Given the description of an element on the screen output the (x, y) to click on. 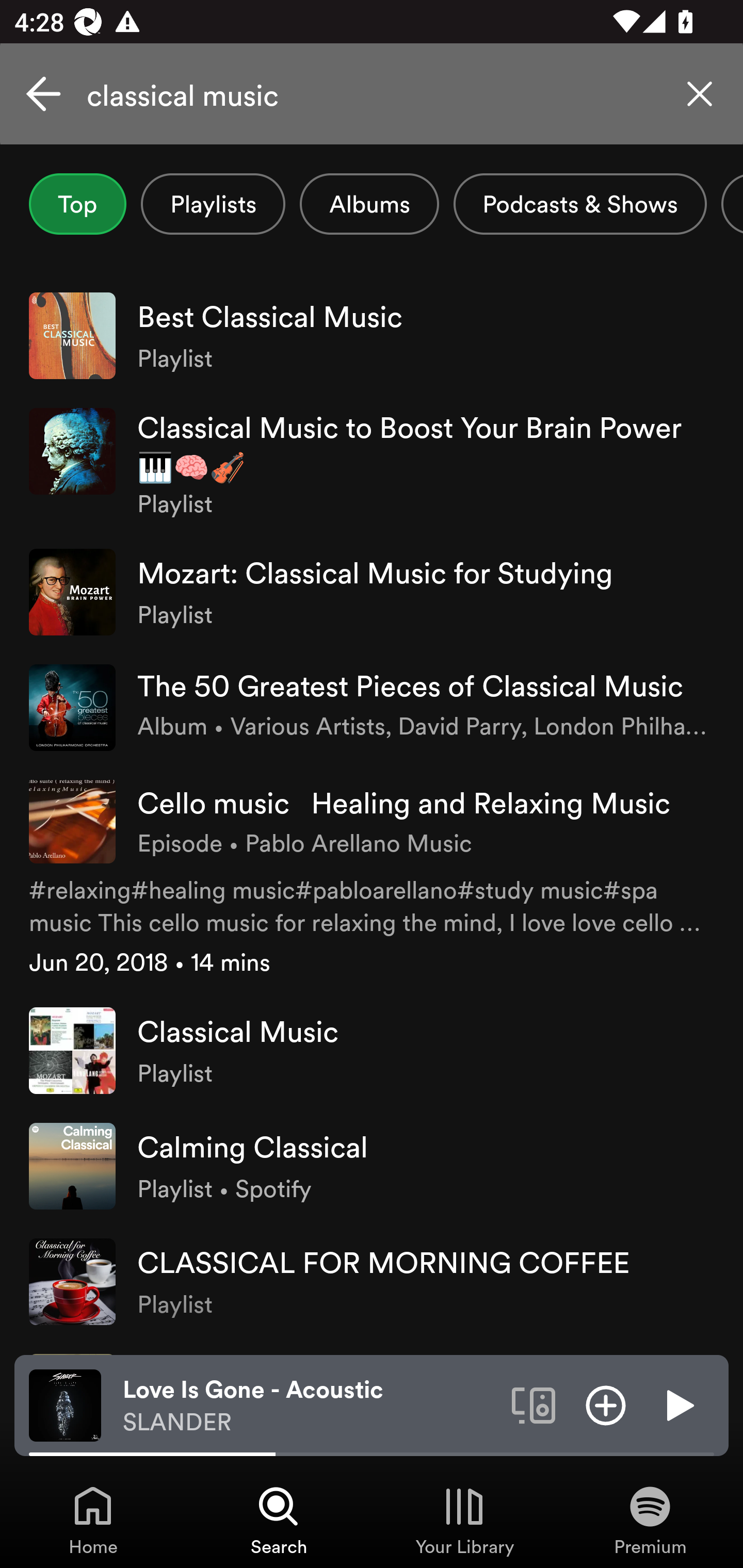
classical music (371, 93)
Cancel (43, 93)
Clear search query (699, 93)
Top (77, 203)
Playlists (213, 203)
Albums (369, 203)
Podcasts & Shows (579, 203)
Best Classical Music Playlist (371, 335)
Mozart: Classical Music for Studying Playlist (371, 591)
Classical Music Playlist (371, 1050)
Calming Classical Playlist • Spotify (371, 1166)
CLASSICAL FOR MORNING COFFEE Playlist (371, 1281)
Love Is Gone - Acoustic SLANDER (309, 1405)
The cover art of the currently playing track (64, 1404)
Connect to a device. Opens the devices menu (533, 1404)
Add item (605, 1404)
Play (677, 1404)
Home, Tab 1 of 4 Home Home (92, 1519)
Search, Tab 2 of 4 Search Search (278, 1519)
Your Library, Tab 3 of 4 Your Library Your Library (464, 1519)
Premium, Tab 4 of 4 Premium Premium (650, 1519)
